Given the description of an element on the screen output the (x, y) to click on. 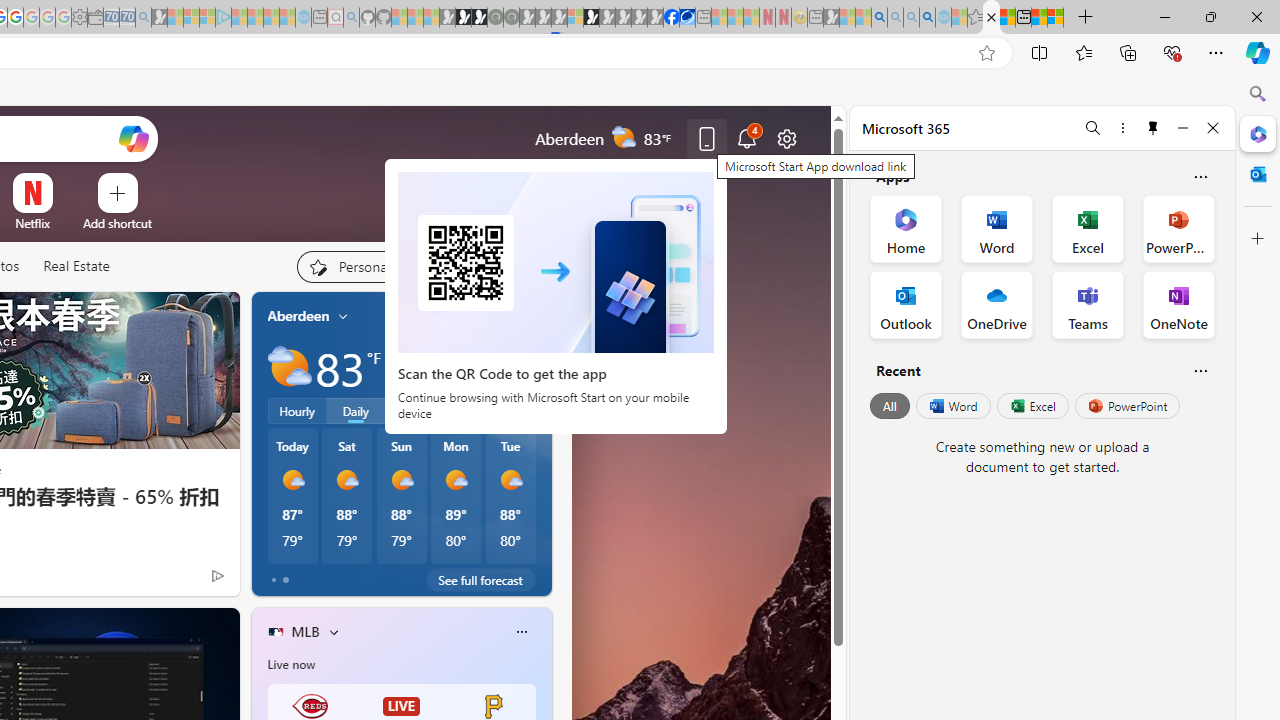
Word (952, 406)
Partly sunny (289, 368)
previous (261, 443)
github - Search - Sleeping (351, 17)
Feed settings (488, 266)
